Given the description of an element on the screen output the (x, y) to click on. 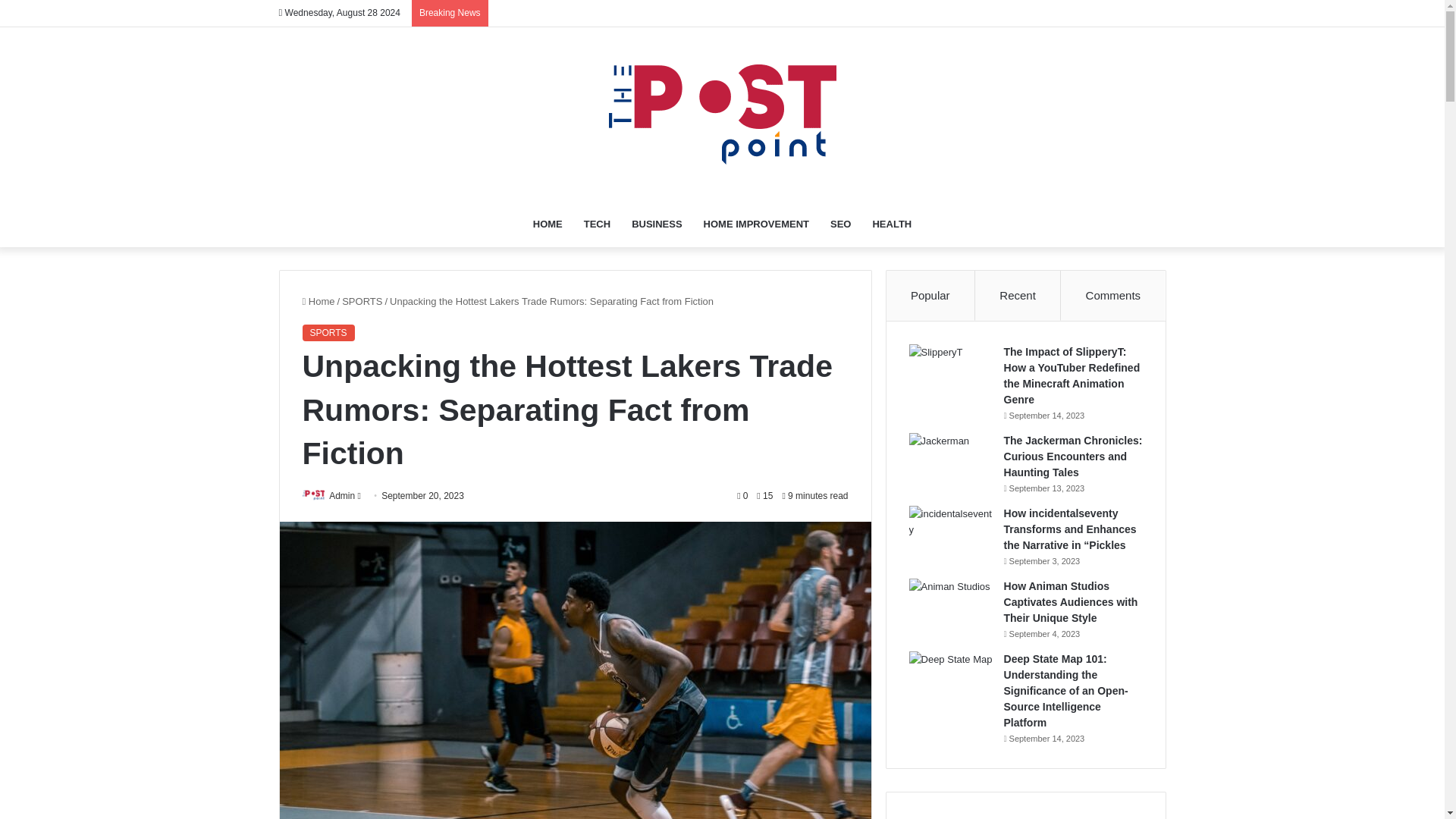
HOME (547, 224)
SPORTS (361, 301)
BUSINESS (657, 224)
Home (317, 301)
HEALTH (891, 224)
TECH (597, 224)
SPORTS (327, 332)
SEO (840, 224)
HOME IMPROVEMENT (756, 224)
